Given the description of an element on the screen output the (x, y) to click on. 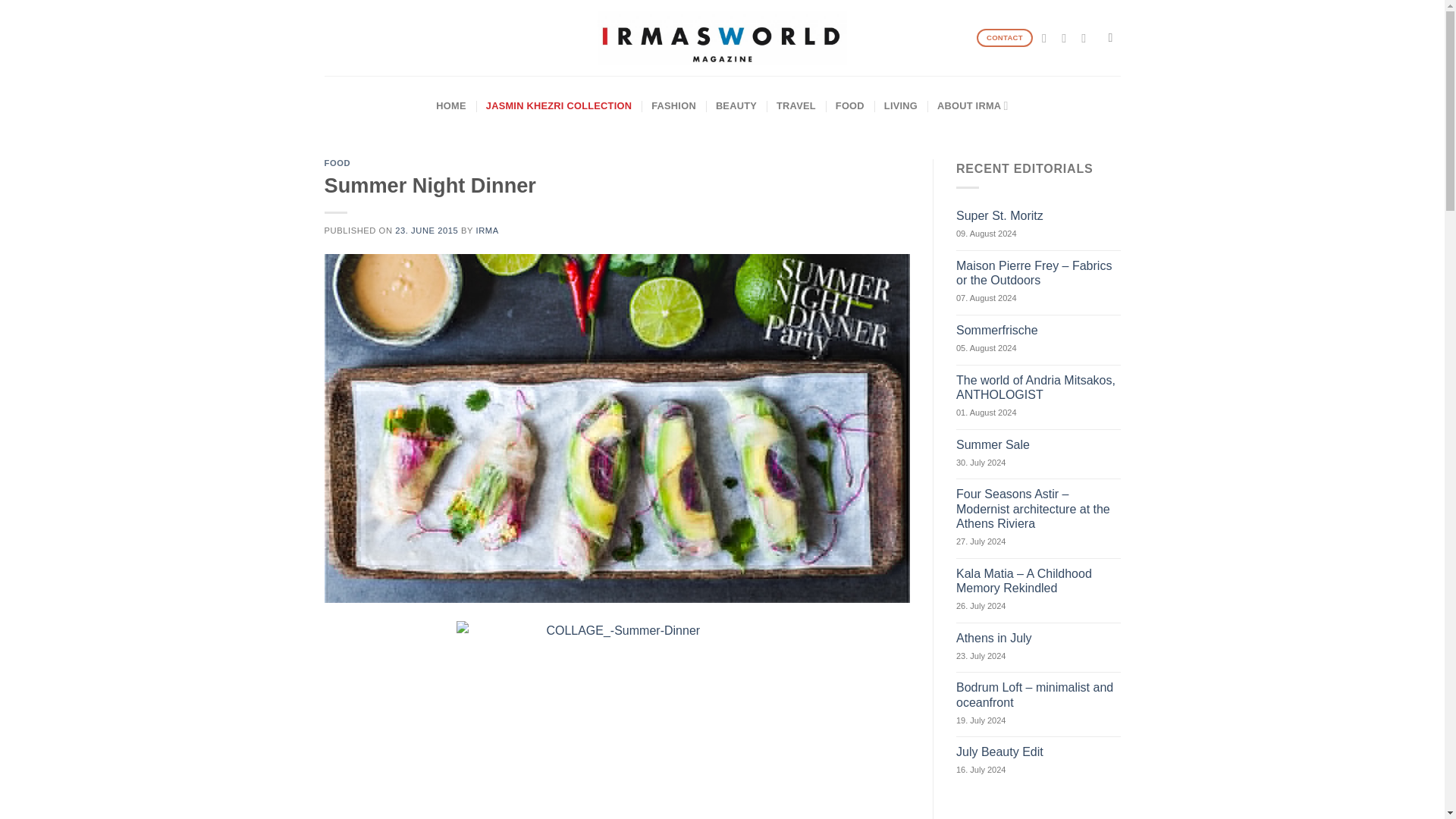
The world of Andria Mitsakos, ANTHOLOGIST (1038, 387)
JASMIN KHEZRI COLLECTION (558, 106)
Follow on Facebook (1048, 38)
Summer Sale (1038, 444)
FOOD (337, 162)
CONTACT (1004, 37)
The world of Andria Mitsakos, ANTHOLOGIST (1038, 387)
Super St. Moritz (1038, 215)
23. JUNE 2015 (426, 230)
ABOUT IRMA (973, 106)
